Given the description of an element on the screen output the (x, y) to click on. 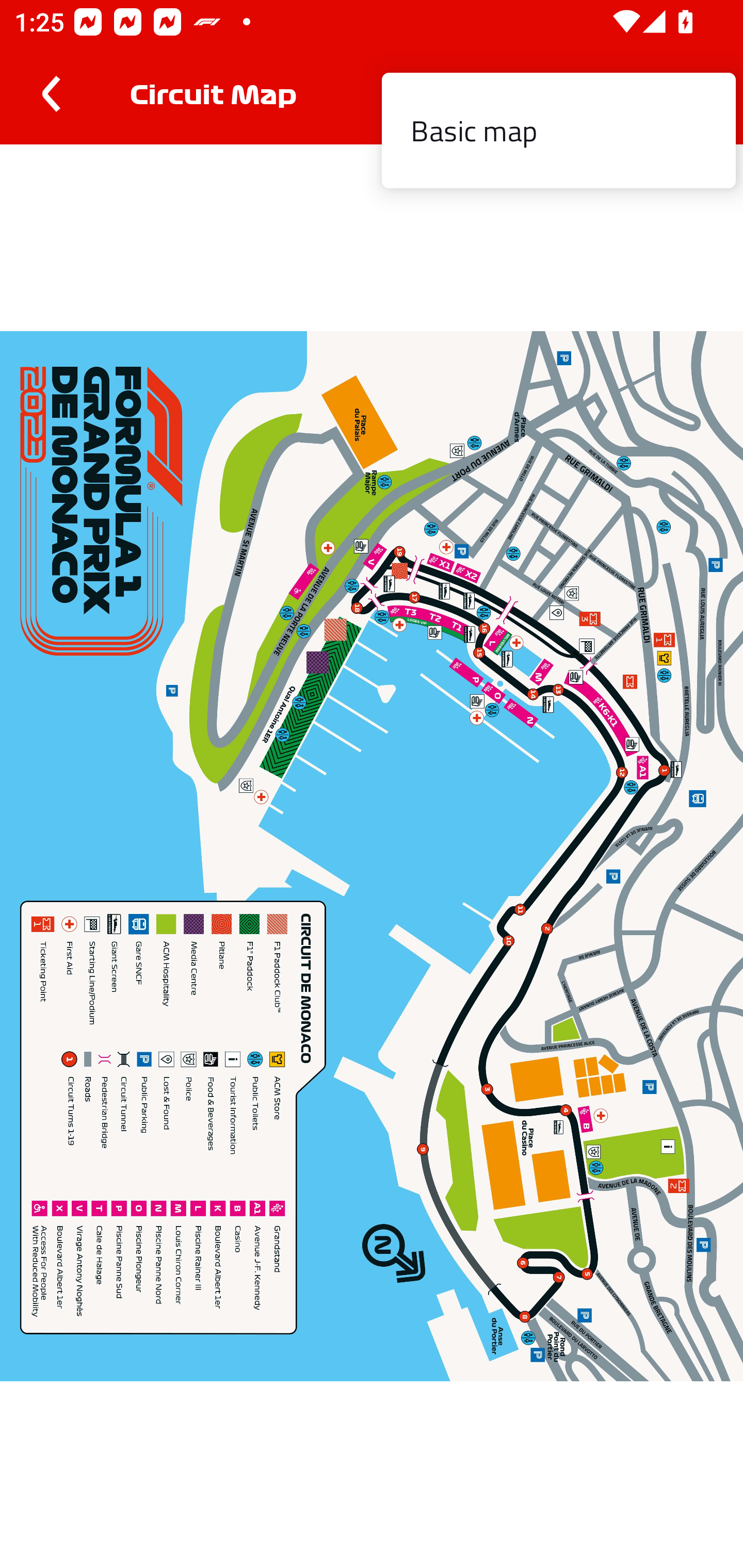
Basic map (558, 130)
